Given the description of an element on the screen output the (x, y) to click on. 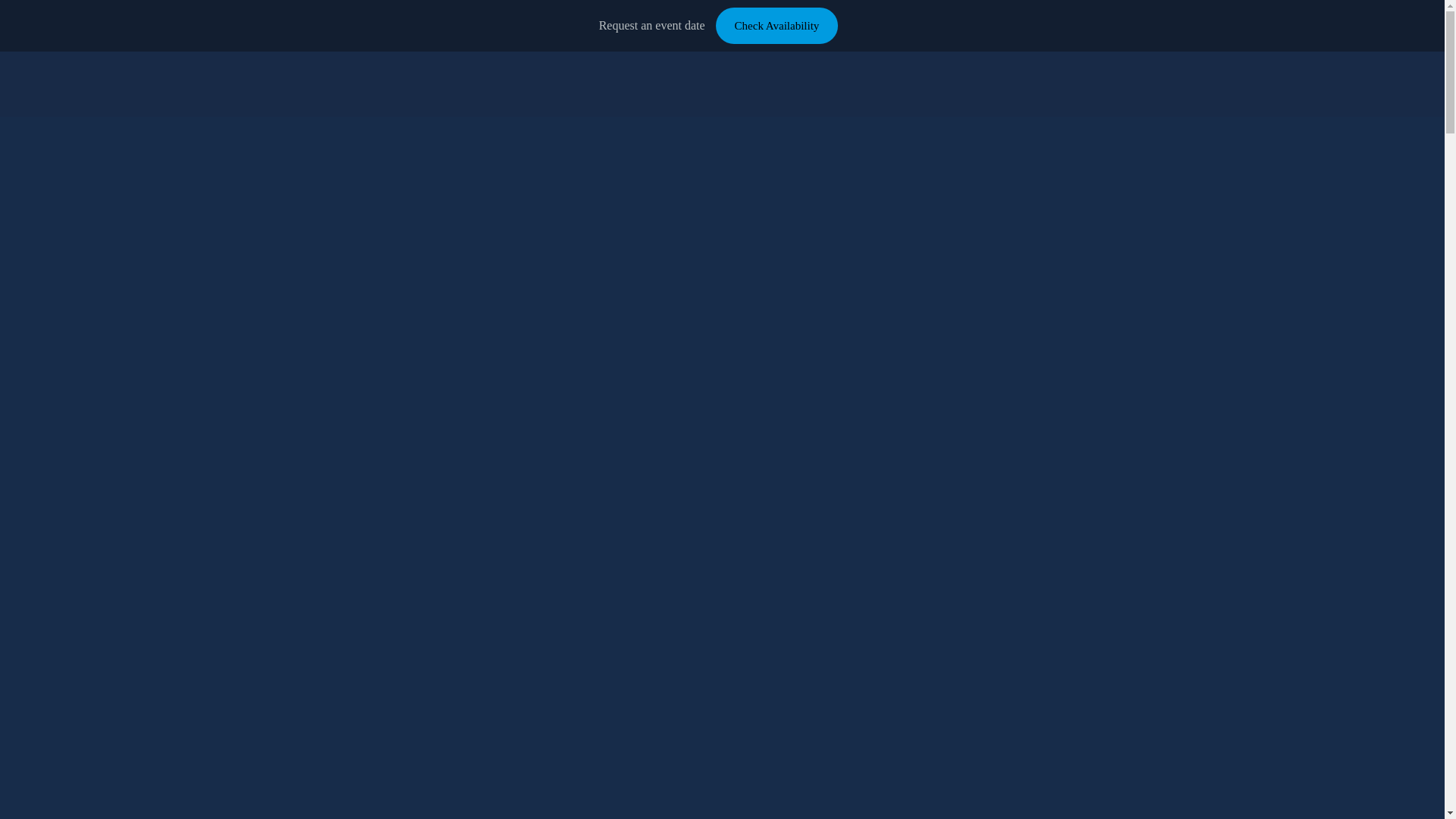
Check Availability (776, 24)
